Given the description of an element on the screen output the (x, y) to click on. 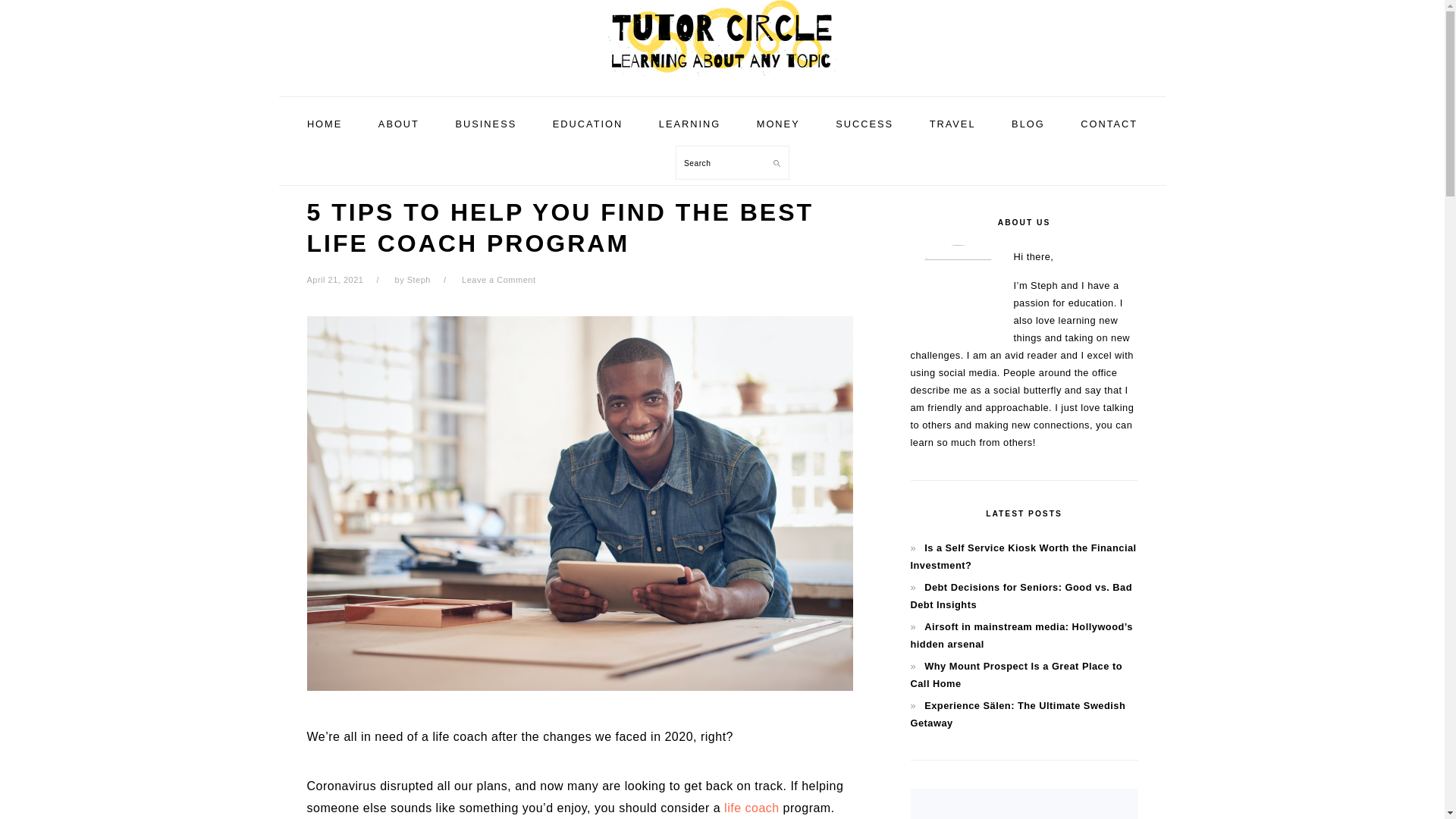
Steph (418, 279)
SUCCESS (863, 123)
Tutor Circle (721, 38)
Debt Decisions for Seniors: Good vs. Bad Debt Insights (1021, 595)
EDUCATION (588, 123)
BUSINESS (485, 123)
MONEY (778, 123)
HOME (324, 123)
BLOG (1028, 123)
